Given the description of an element on the screen output the (x, y) to click on. 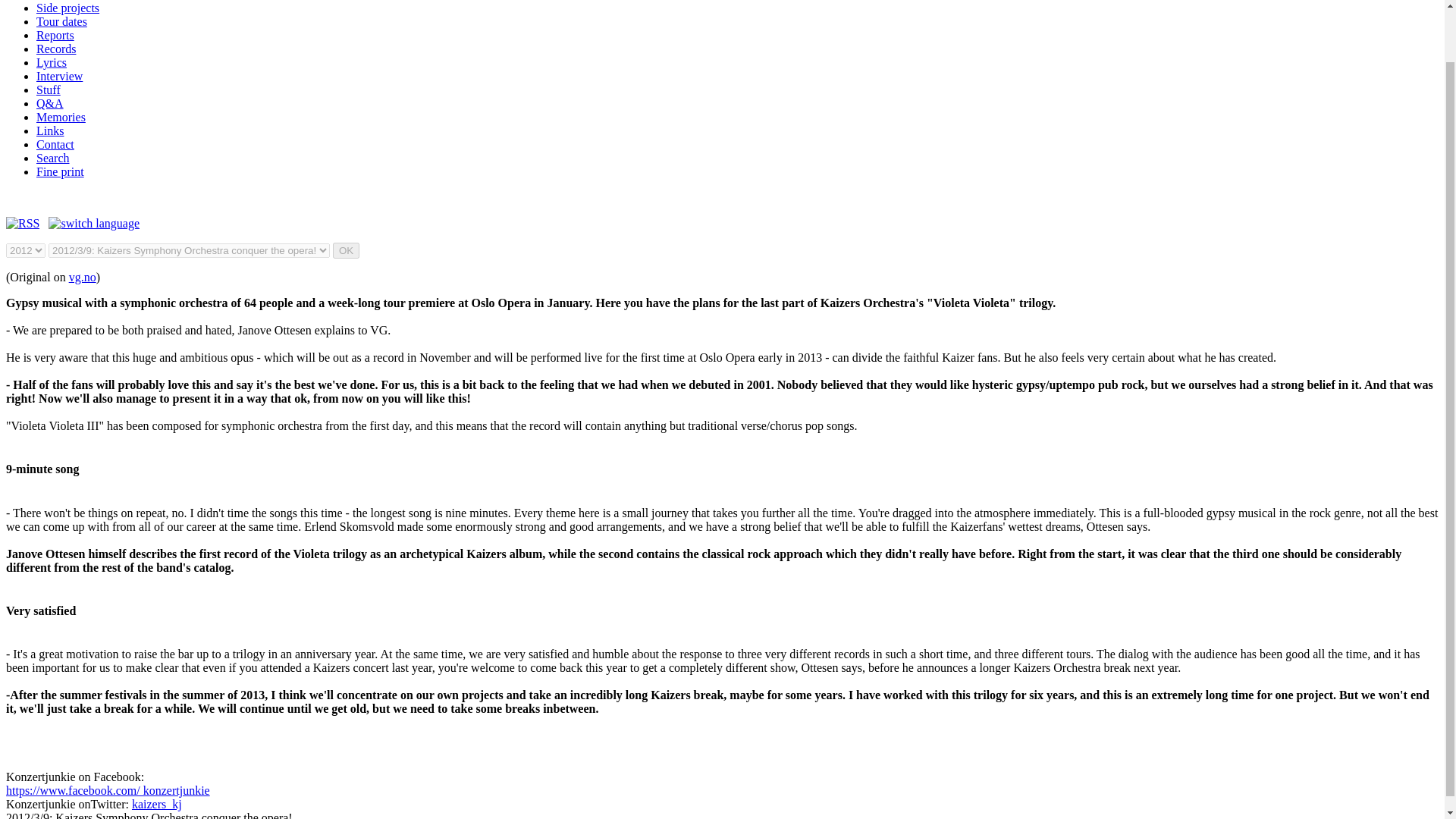
Stuff (48, 89)
Side projects (67, 7)
Tour dates (61, 21)
Memories (60, 116)
OK (346, 250)
Reports (55, 34)
About Kaizers (71, 0)
Lyrics (51, 62)
Contact (55, 144)
Fine print (60, 171)
Search (52, 157)
vg.no (82, 277)
Links (50, 130)
Interview (59, 75)
Records (55, 48)
